Given the description of an element on the screen output the (x, y) to click on. 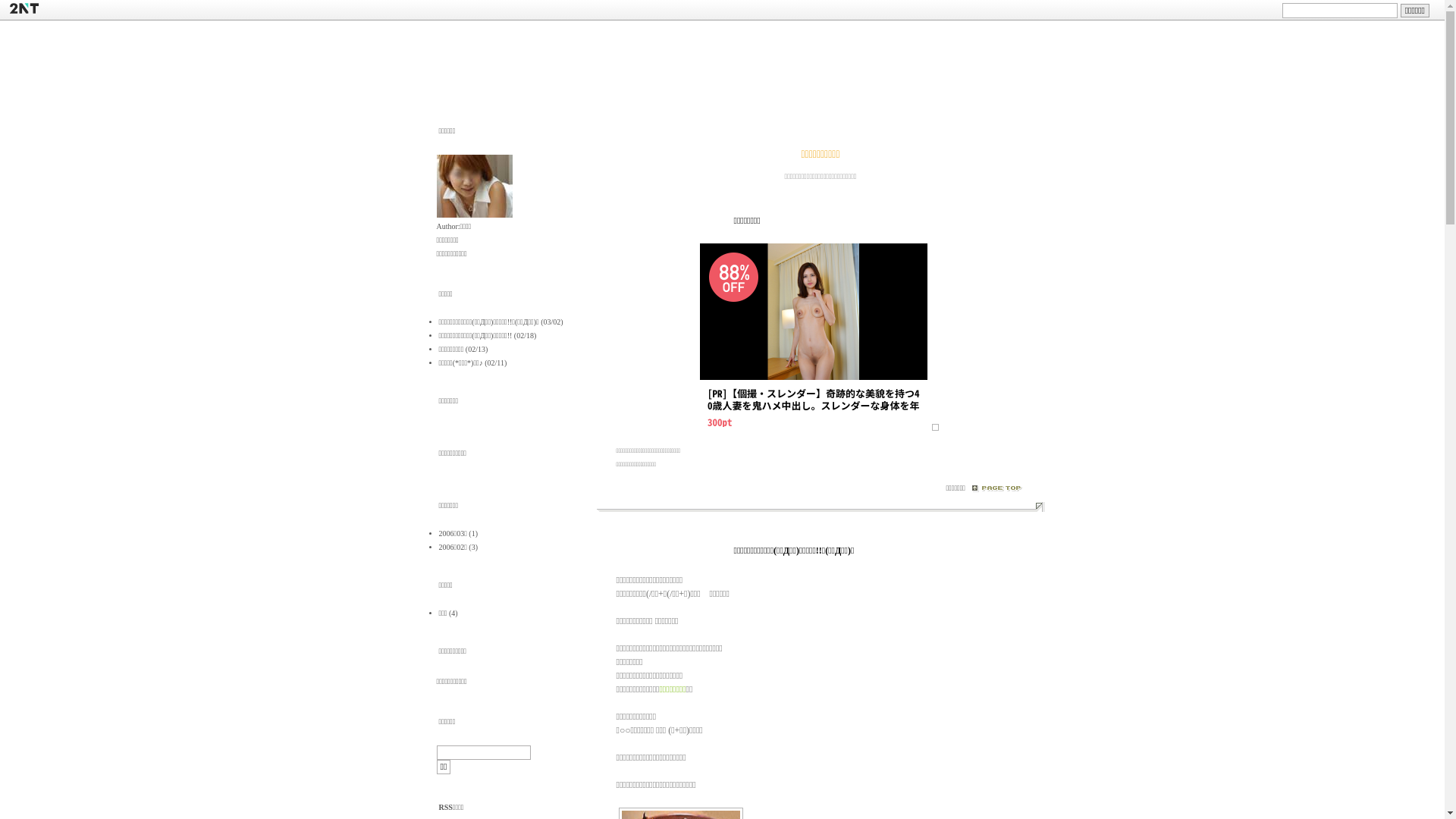
--/--/--/-- Element type: text (665, 219)
2006/03/02/Thu Element type: text (665, 549)
